Given the description of an element on the screen output the (x, y) to click on. 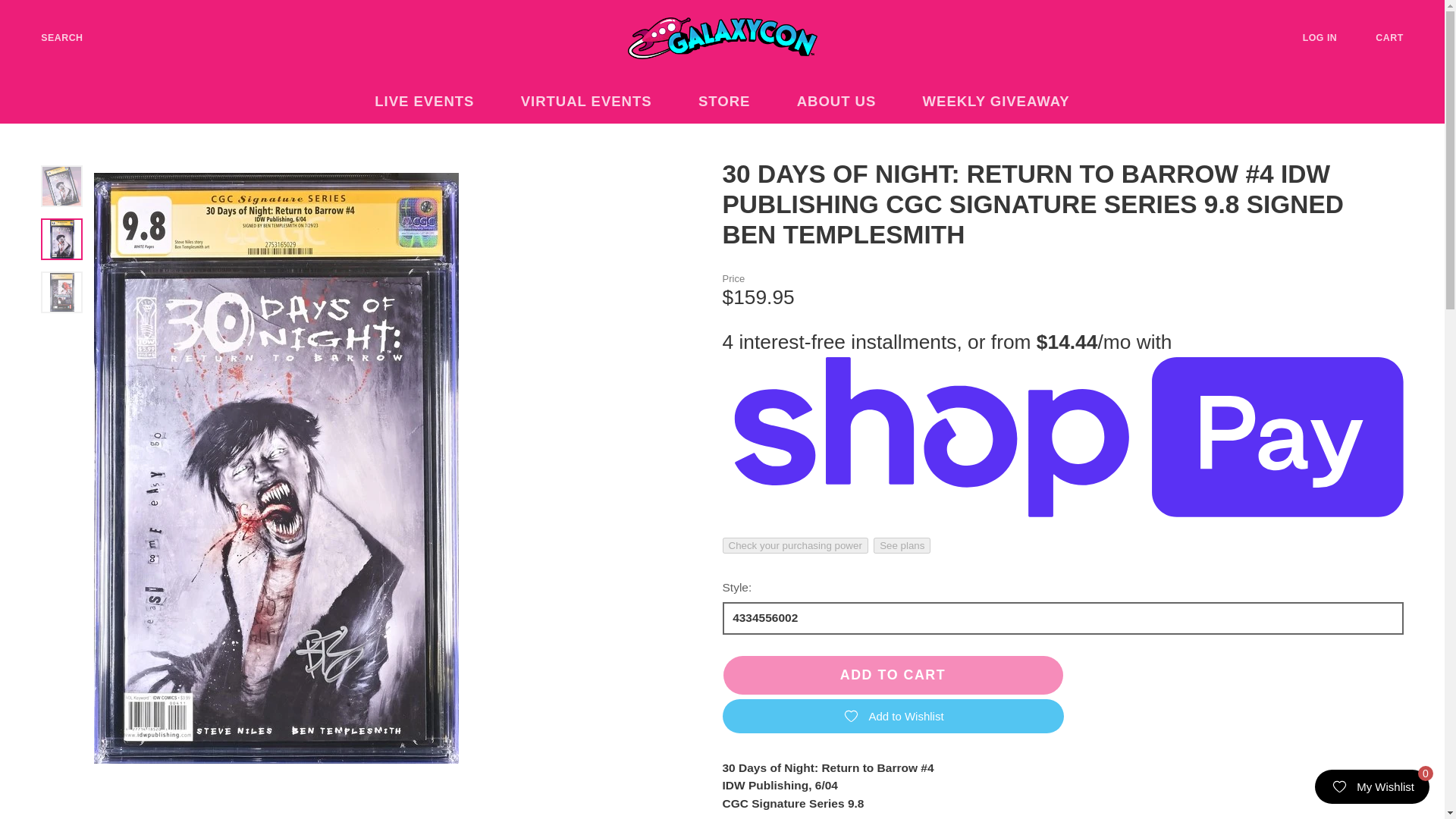
SEARCH (49, 37)
LOG IN (1332, 37)
CART (1400, 37)
LIVE EVENTS (433, 101)
VIRTUAL EVENTS (595, 101)
